Given the description of an element on the screen output the (x, y) to click on. 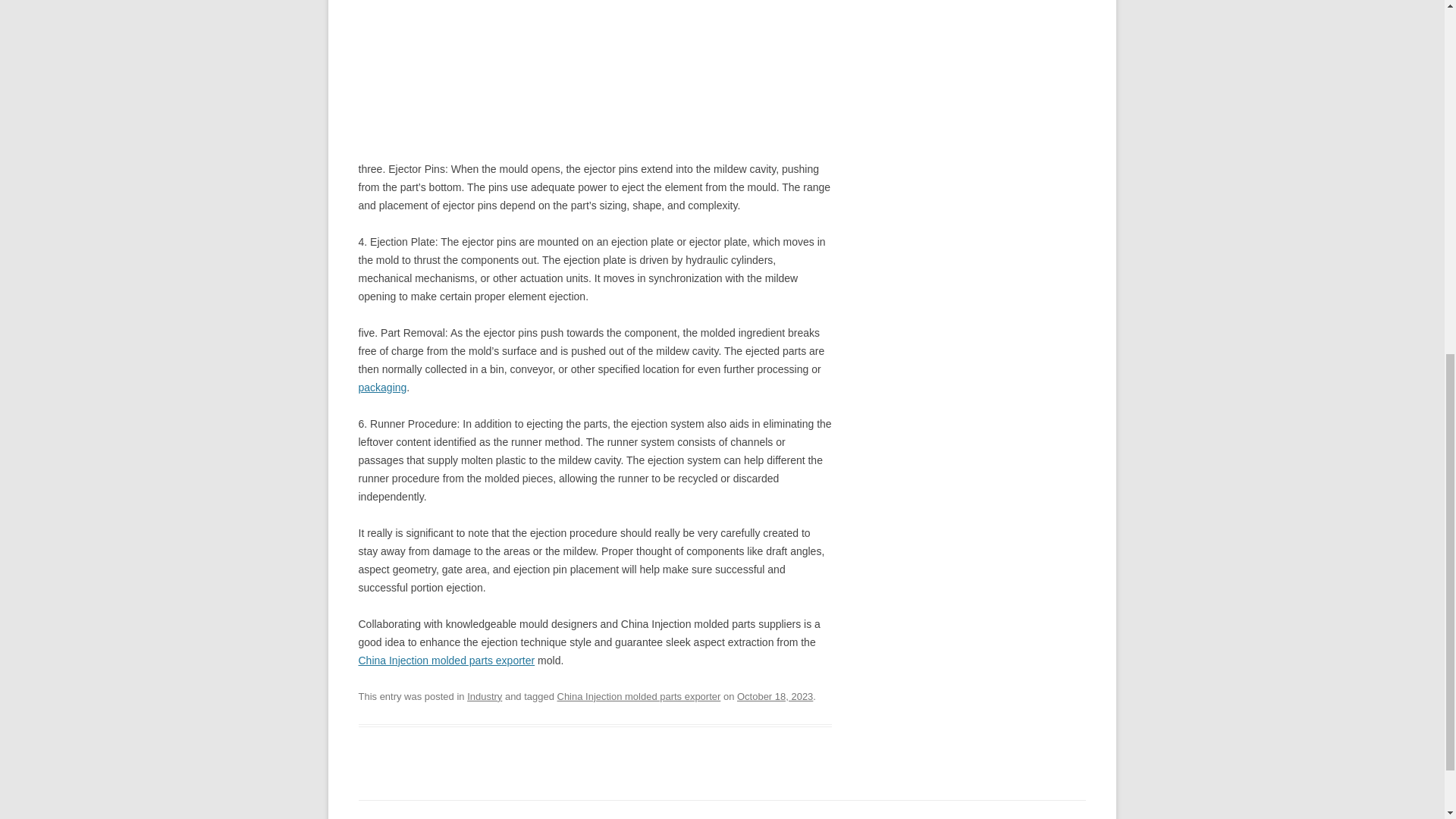
October 18, 2023 (774, 696)
Industry (484, 696)
4:36 pm (774, 696)
China Injection molded parts exporter (638, 696)
packaging (382, 387)
China Injection molded parts exporter (446, 660)
